Given the description of an element on the screen output the (x, y) to click on. 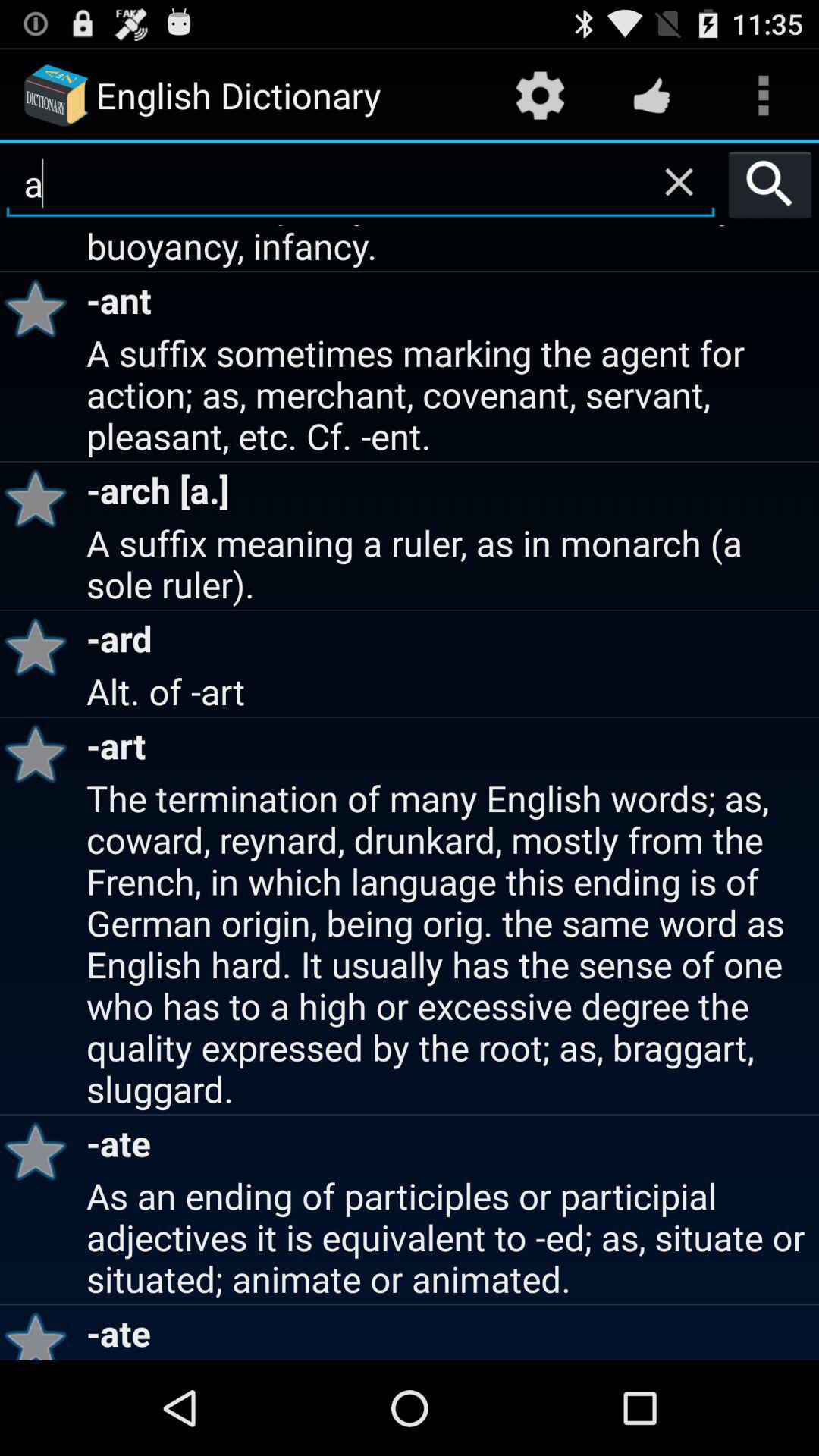
turn on the app above the a suffix expressing icon (678, 181)
